Given the description of an element on the screen output the (x, y) to click on. 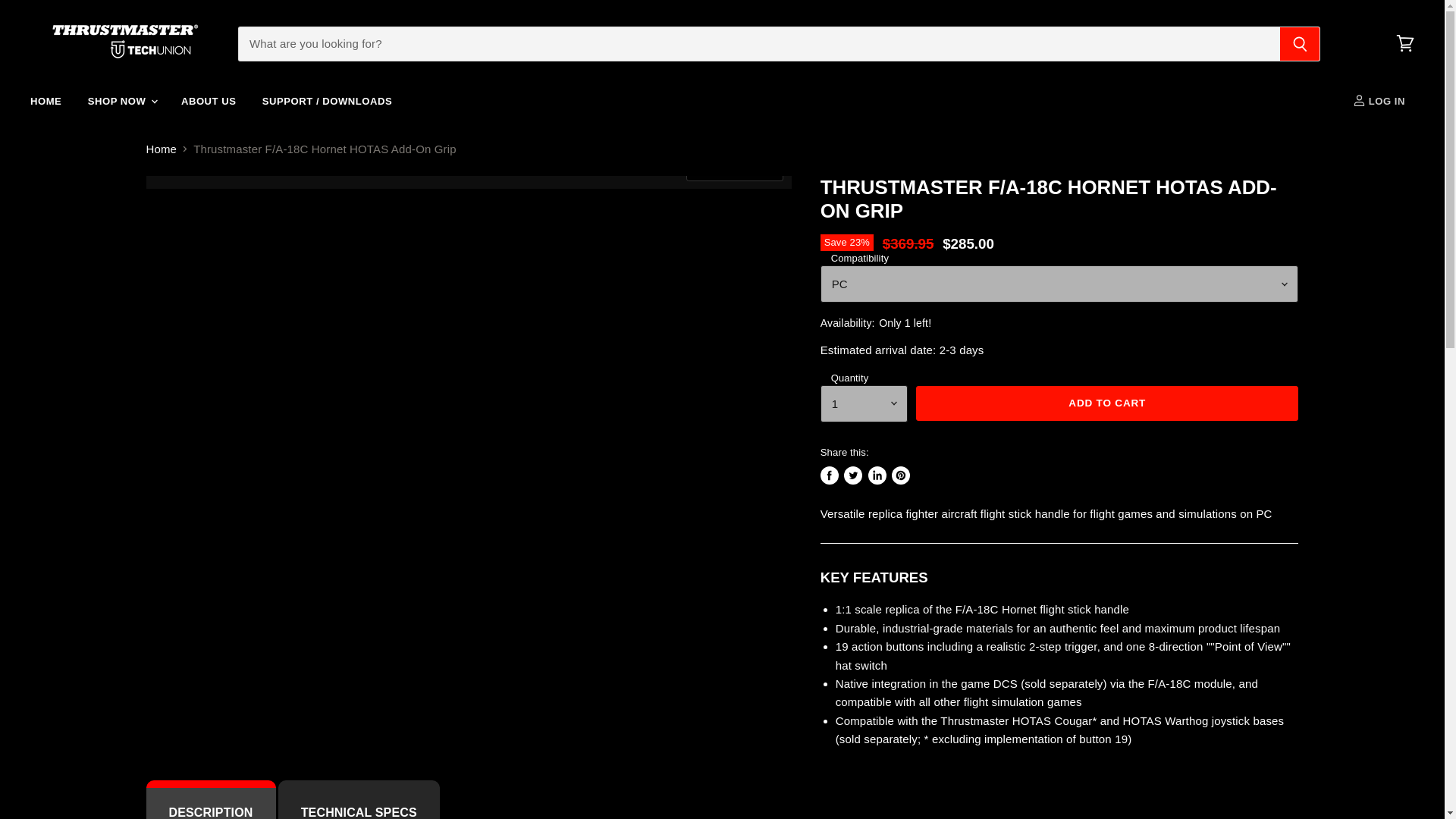
HOME (45, 101)
ACCOUNT ICON LOG IN (1382, 101)
View cart (1405, 42)
ABOUT US (208, 101)
ACCOUNT ICON (1358, 100)
SHOP NOW (122, 101)
